Given the description of an element on the screen output the (x, y) to click on. 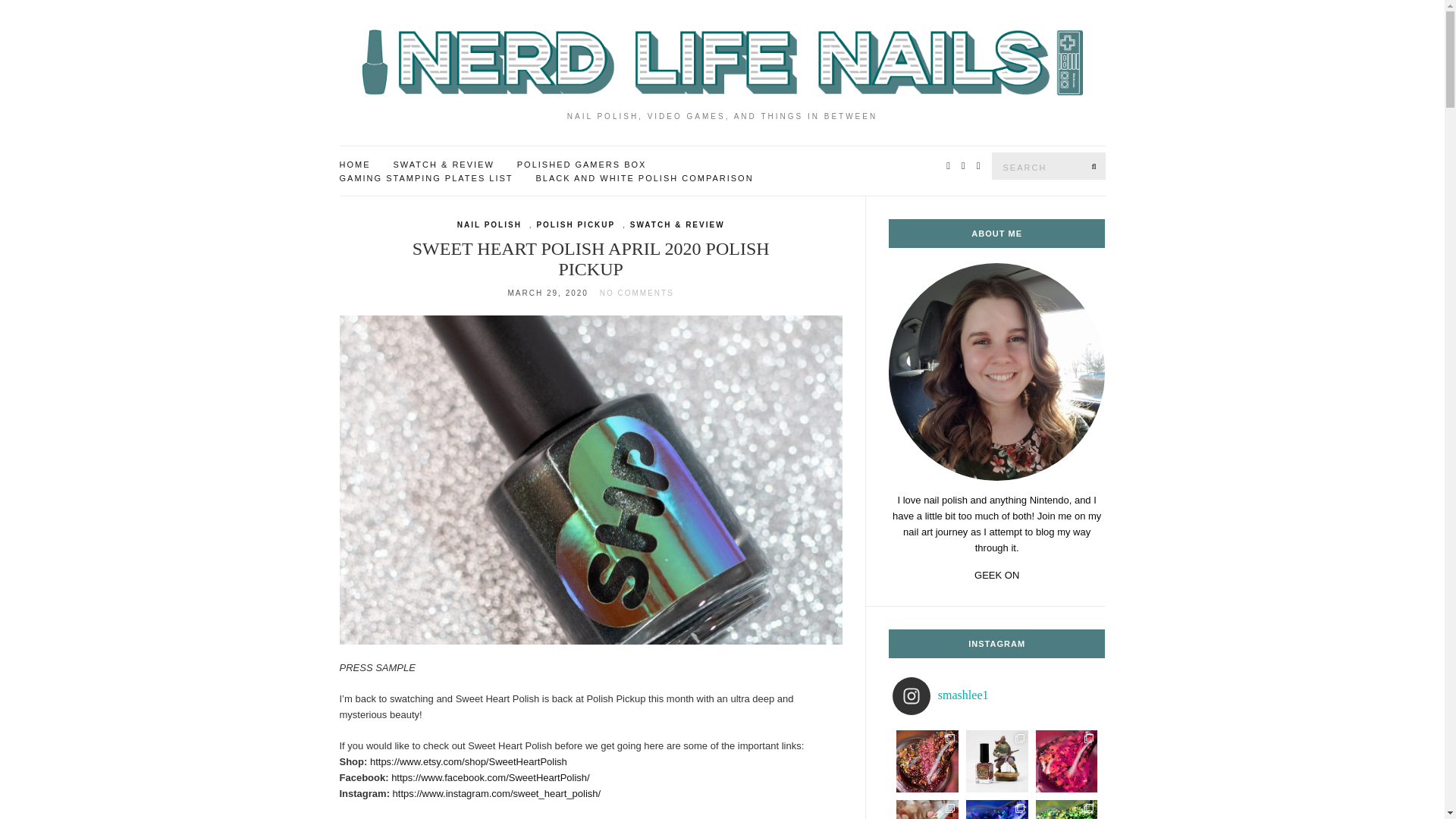
POLISH PICKUP (574, 224)
POLISHED GAMERS BOX (581, 164)
NO COMMENTS (636, 293)
BLACK AND WHITE POLISH COMPARISON (644, 178)
GAMING STAMPING PLATES LIST (426, 178)
HOME (355, 164)
NAIL POLISH (489, 224)
